Given the description of an element on the screen output the (x, y) to click on. 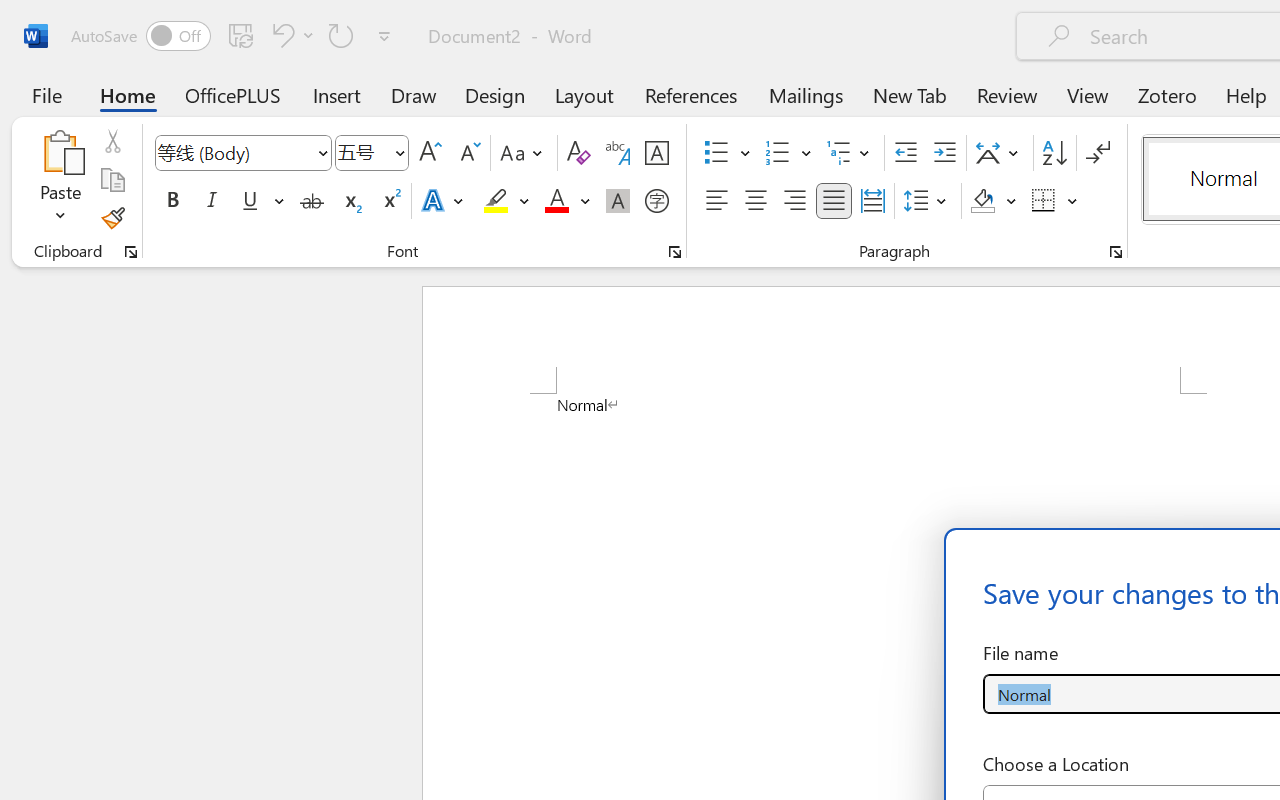
Show/Hide Editing Marks (1098, 153)
Shrink Font (468, 153)
View (1087, 94)
Quick Access Toolbar (233, 36)
Home (127, 94)
Save (241, 35)
Distributed (872, 201)
Borders (1055, 201)
Justify (834, 201)
Superscript (390, 201)
Office Clipboard... (131, 252)
Align Left (716, 201)
More Options (1073, 201)
References (690, 94)
Font Size (362, 152)
